Given the description of an element on the screen output the (x, y) to click on. 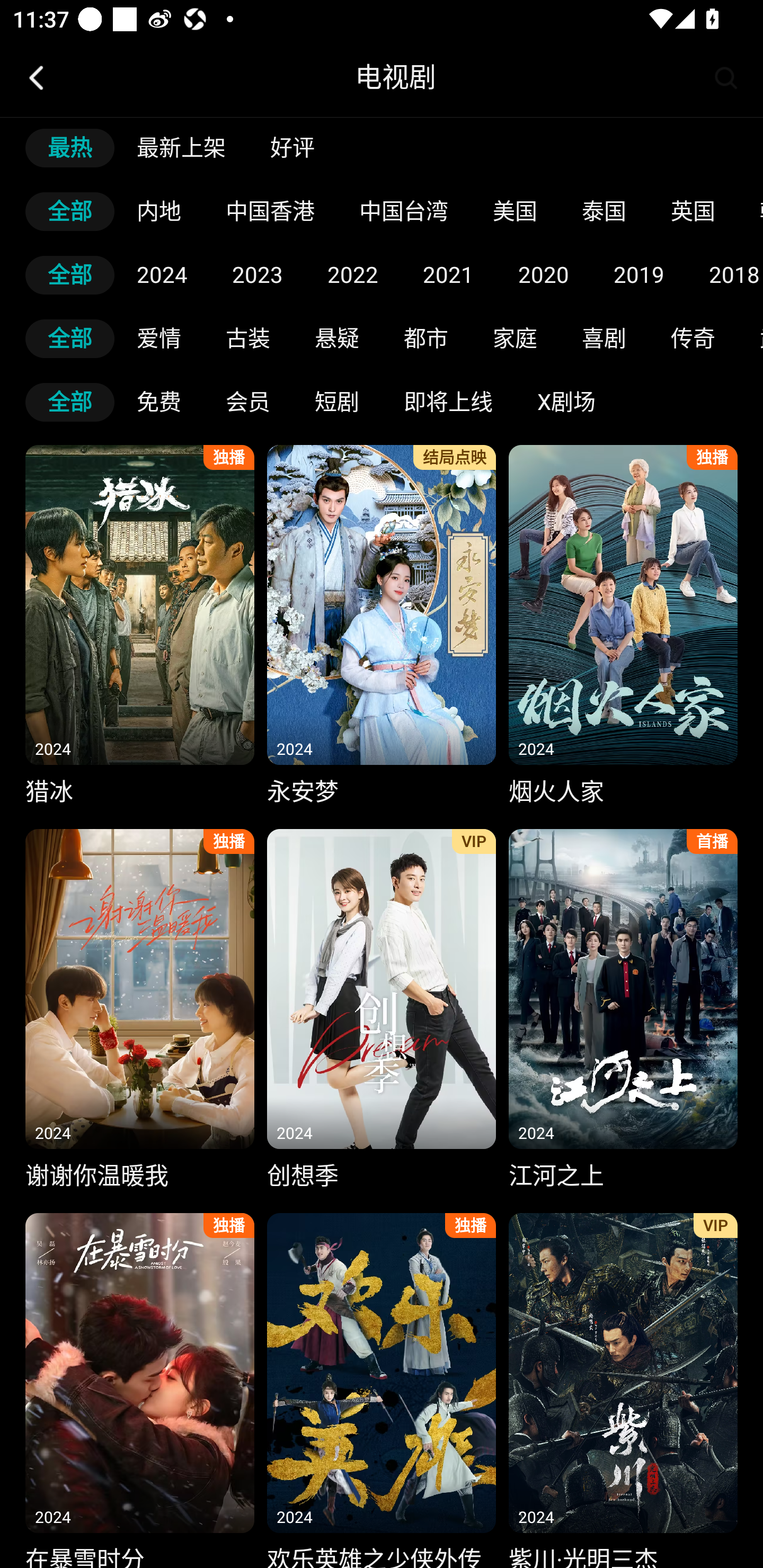
电视剧 (394, 77)
最热 (69, 147)
最新上架 (180, 147)
好评 (292, 147)
全部 (69, 211)
内地 (158, 211)
中国香港 (270, 211)
中国台湾 (403, 211)
美国 (514, 211)
泰国 (603, 211)
英国 (692, 211)
全部 (69, 274)
2024 (161, 274)
2023 (257, 274)
2022 (352, 274)
2021 (447, 274)
2020 (543, 274)
2019 (638, 274)
2018 (724, 274)
全部 (69, 338)
爱情 (158, 338)
古装 (247, 338)
悬疑 (336, 338)
都市 (425, 338)
家庭 (514, 338)
喜剧 (603, 338)
传奇 (692, 338)
全部 (69, 401)
免费 (158, 401)
会员 (247, 401)
短剧 (336, 401)
即将上线 (448, 401)
X剧场 (566, 401)
猎冰 (139, 627)
永安梦 (381, 627)
烟火人家 (622, 627)
谢谢你温暖我 (139, 1012)
创想季 (381, 1012)
江河之上 (622, 1012)
在暴雪时分 (139, 1386)
欢乐英雄之少侠外传 (381, 1386)
紫川·光明三杰 (622, 1386)
